Given the description of an element on the screen output the (x, y) to click on. 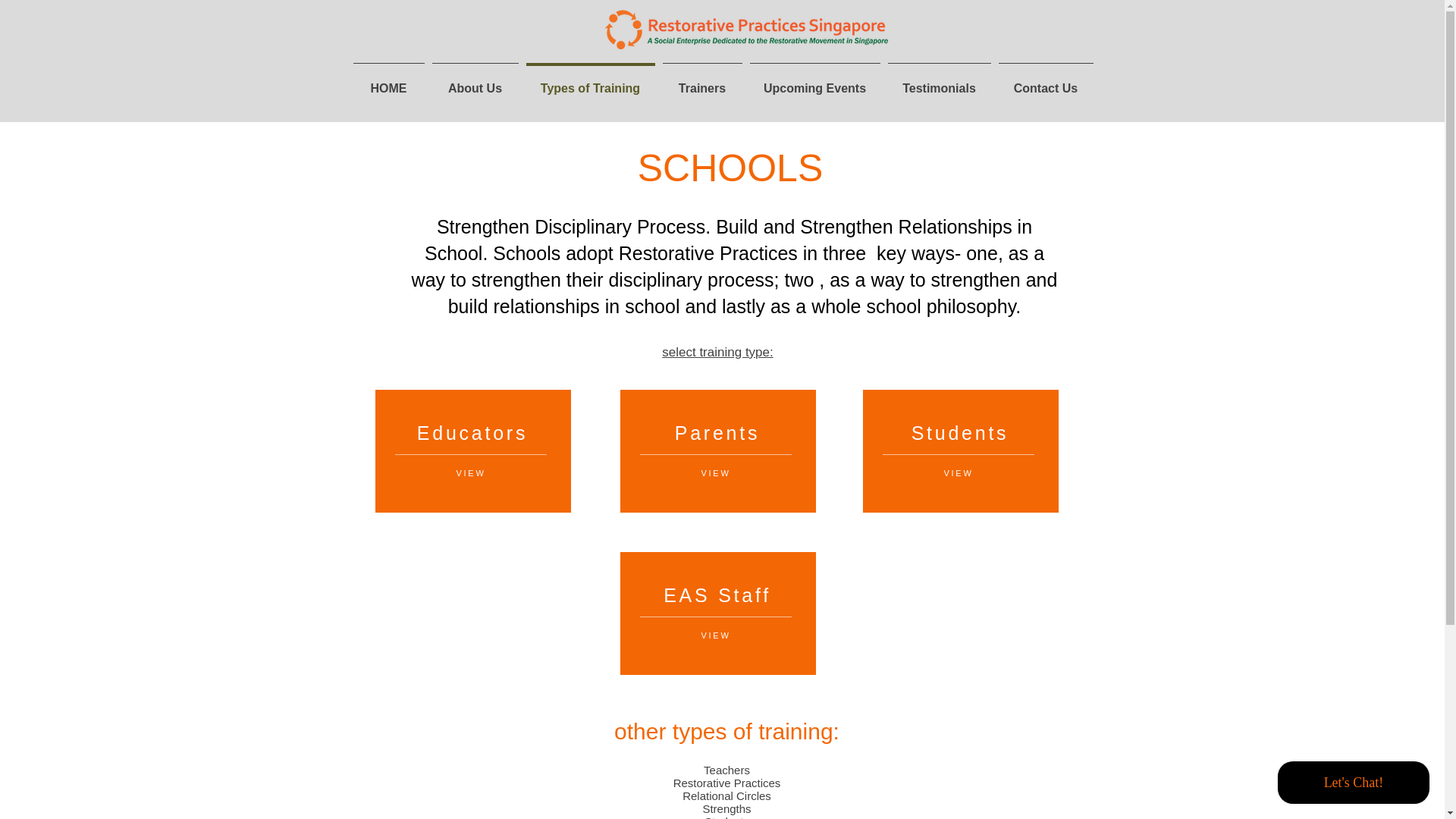
Students (960, 432)
VIEW (469, 472)
Contact Us (1045, 81)
VIEW (715, 634)
VIEW (957, 472)
Testimonials (938, 81)
Trainers (701, 81)
VIEW (715, 472)
Upcoming Events (814, 81)
About Us (474, 81)
HOME (388, 81)
EAS Staff (717, 595)
Types of Training (589, 81)
Educators (471, 432)
Parents (717, 432)
